Given the description of an element on the screen output the (x, y) to click on. 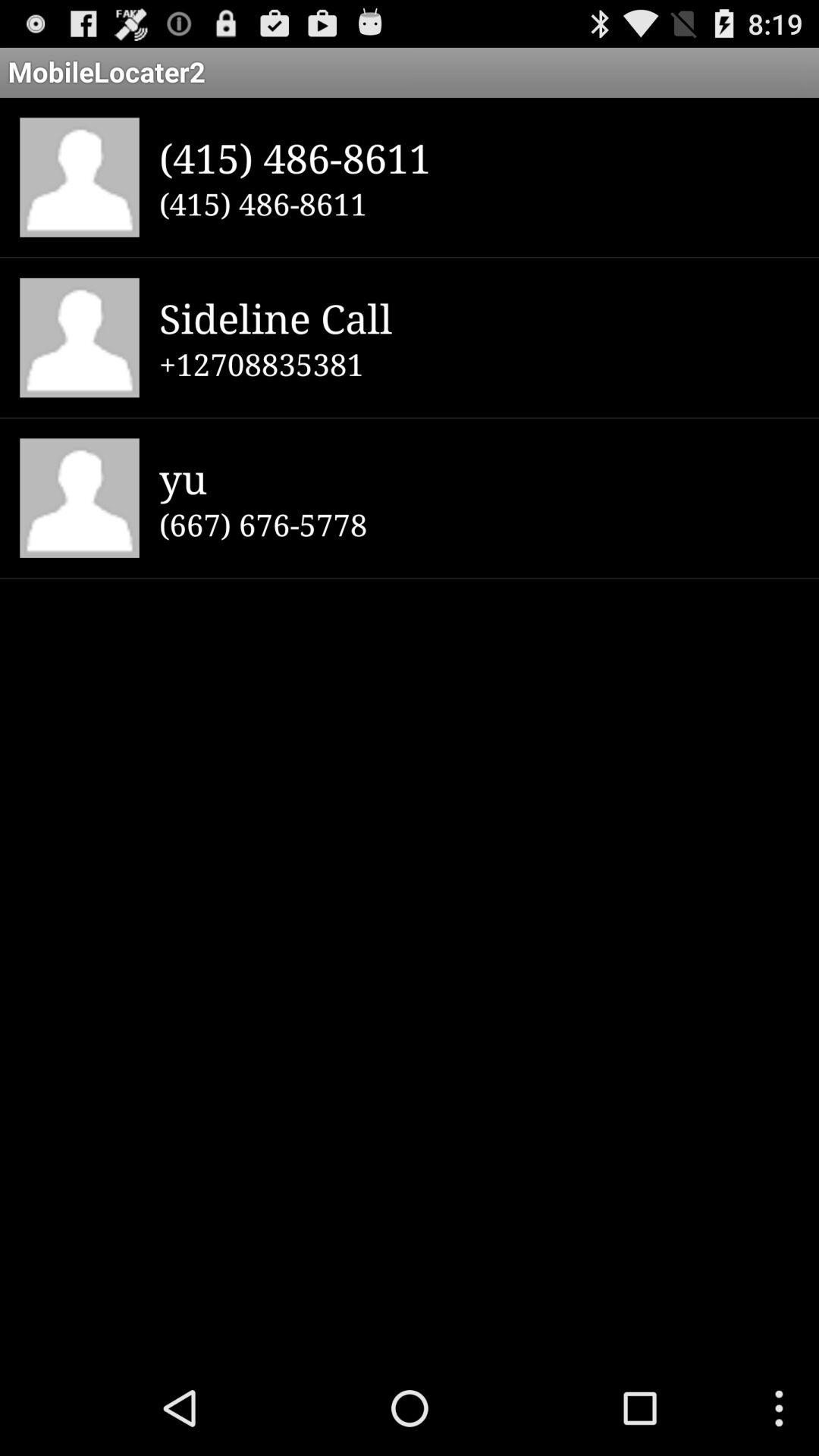
click app below the yu icon (479, 524)
